Given the description of an element on the screen output the (x, y) to click on. 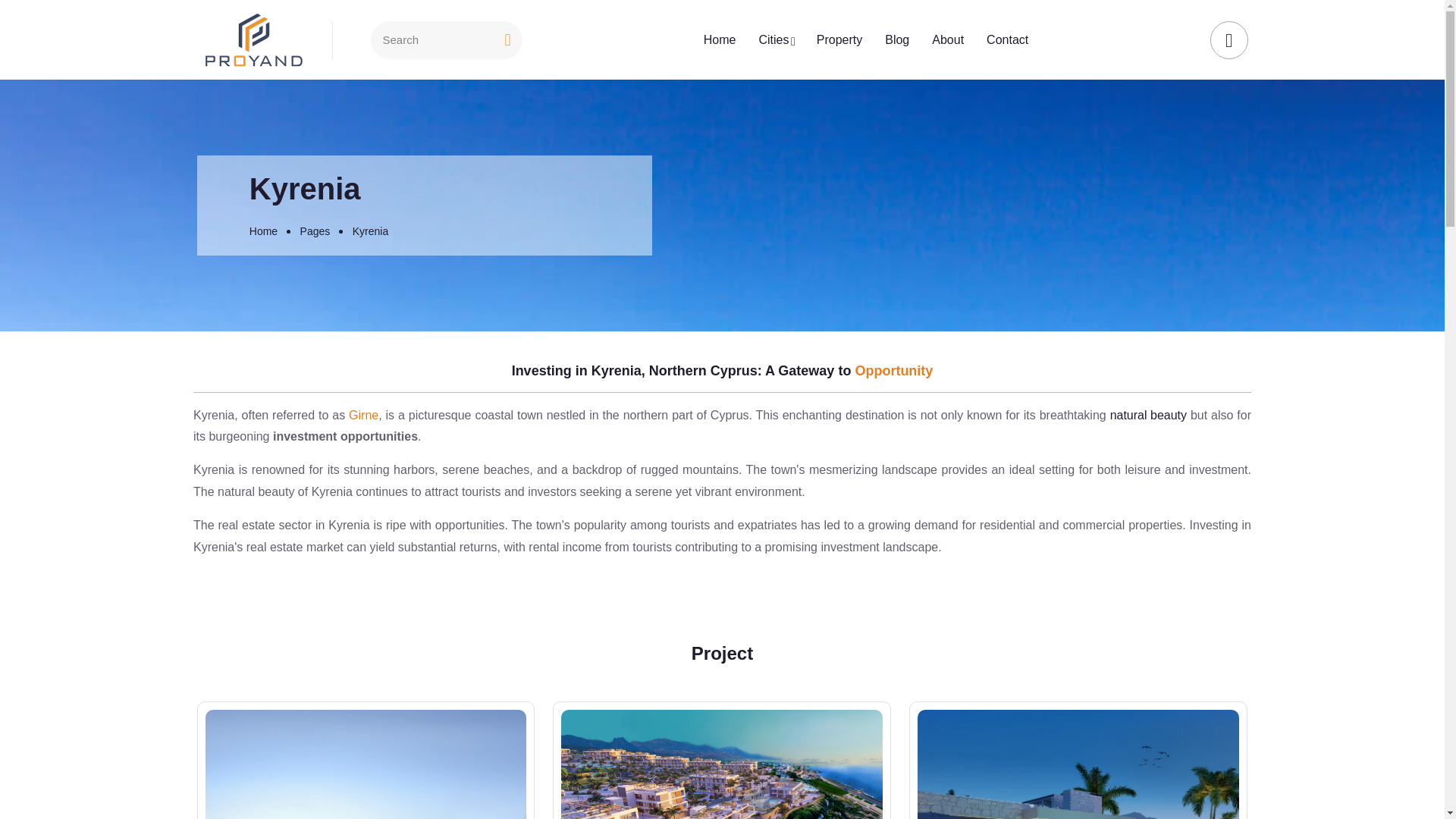
Property (838, 39)
natural beauty (1147, 415)
Contact (1007, 39)
